Given the description of an element on the screen output the (x, y) to click on. 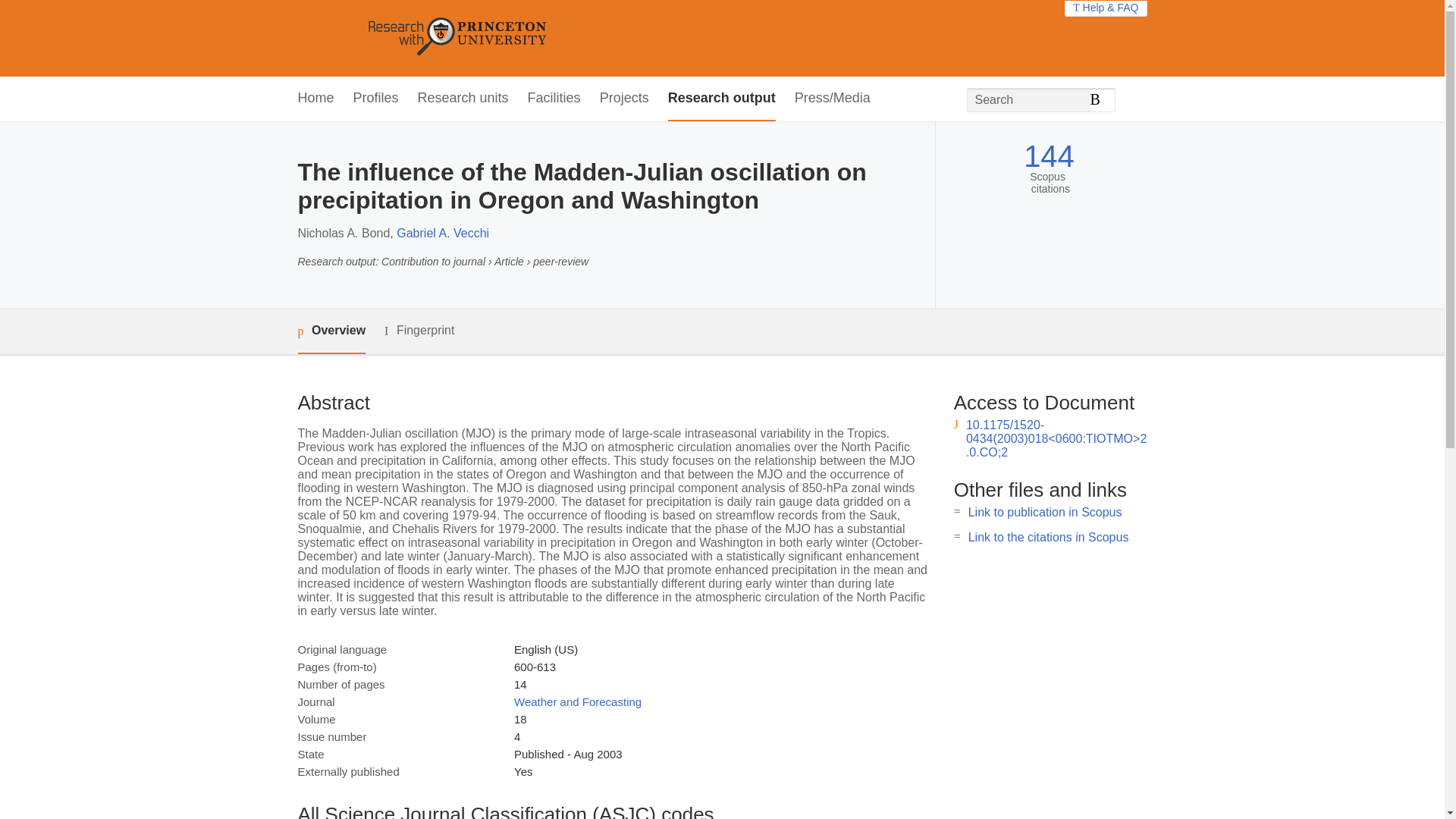
Profiles (375, 98)
Facilities (553, 98)
Research units (462, 98)
Princeton University Home (567, 38)
Gabriel A. Vecchi (442, 232)
Overview (331, 331)
Link to the citations in Scopus (1048, 536)
144 (1048, 156)
Weather and Forecasting (577, 701)
Projects (624, 98)
Research output (722, 98)
Fingerprint (419, 330)
Link to publication in Scopus (1045, 512)
